Given the description of an element on the screen output the (x, y) to click on. 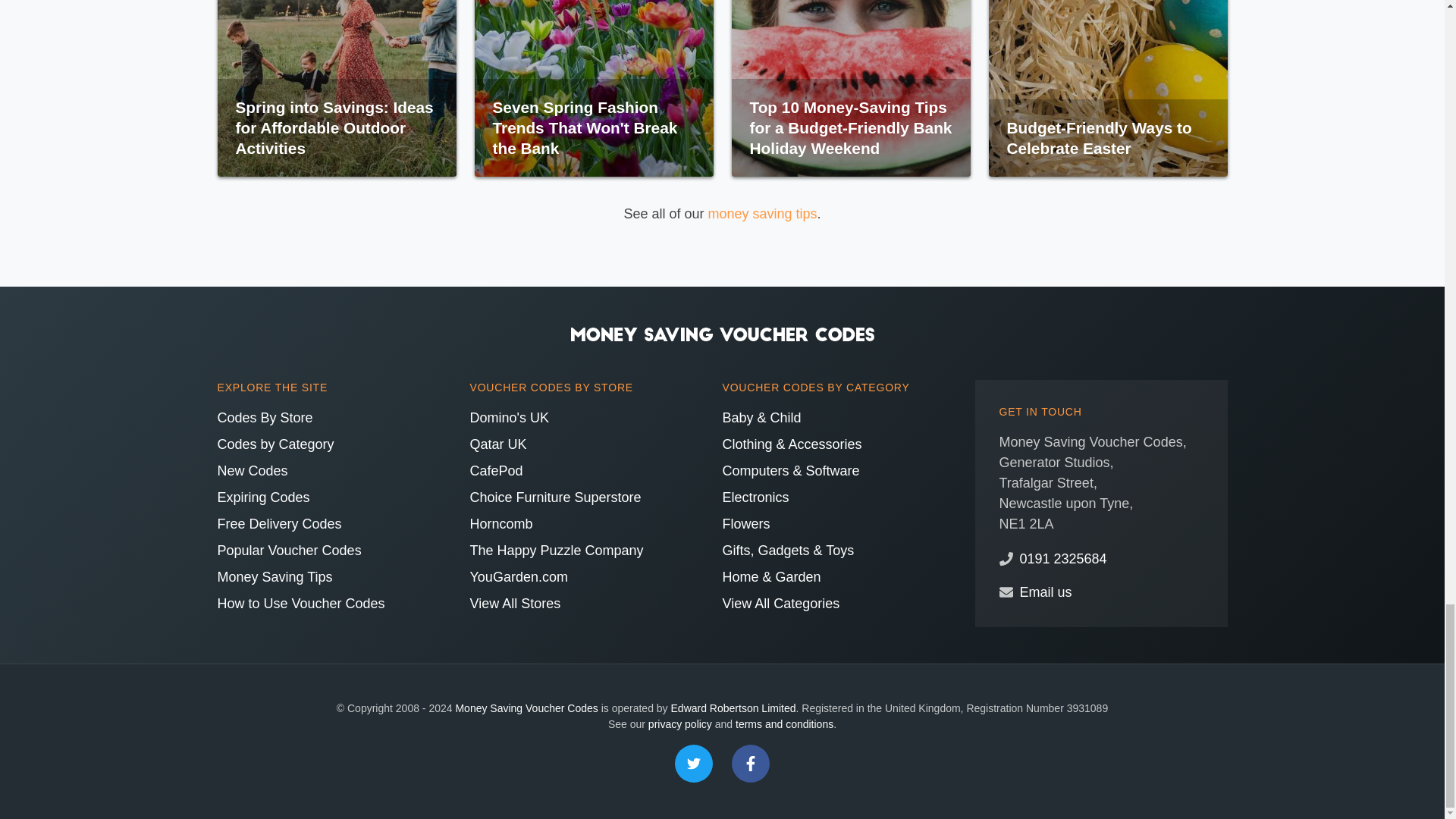
Visit our Twitter (694, 763)
Visit our Homepage (721, 332)
Visit our Facebook (751, 763)
